Given the description of an element on the screen output the (x, y) to click on. 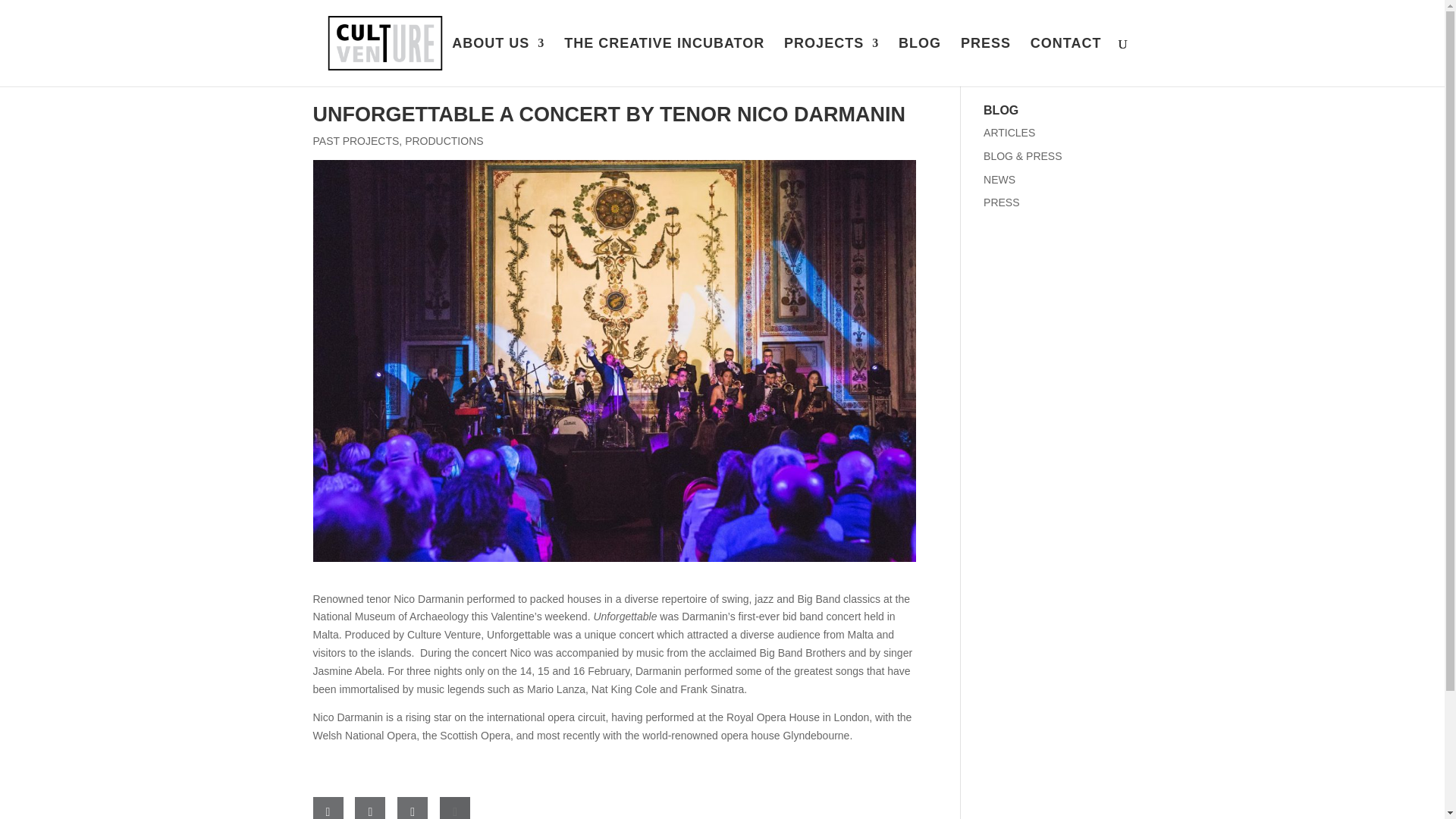
PAST PROJECTS (355, 141)
PRESS (985, 61)
ABOUT US (497, 61)
CONTACT (1066, 61)
PRODUCTIONS (443, 141)
ARTICLES (1009, 132)
THE CREATIVE INCUBATOR (664, 61)
PRESS (1001, 202)
PROJECTS (831, 61)
NEWS (999, 179)
